Given the description of an element on the screen output the (x, y) to click on. 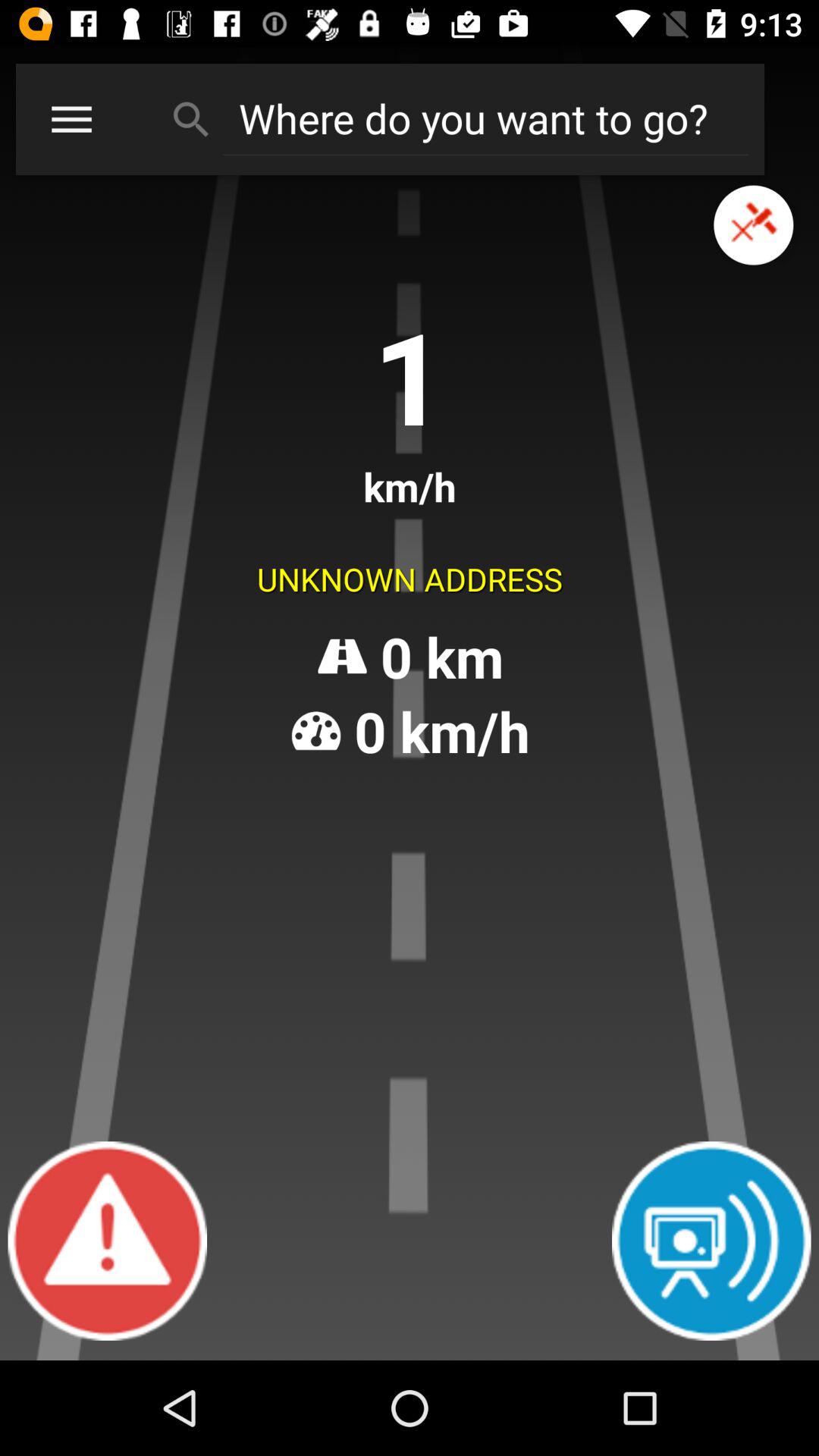
search bar (485, 118)
